Given the description of an element on the screen output the (x, y) to click on. 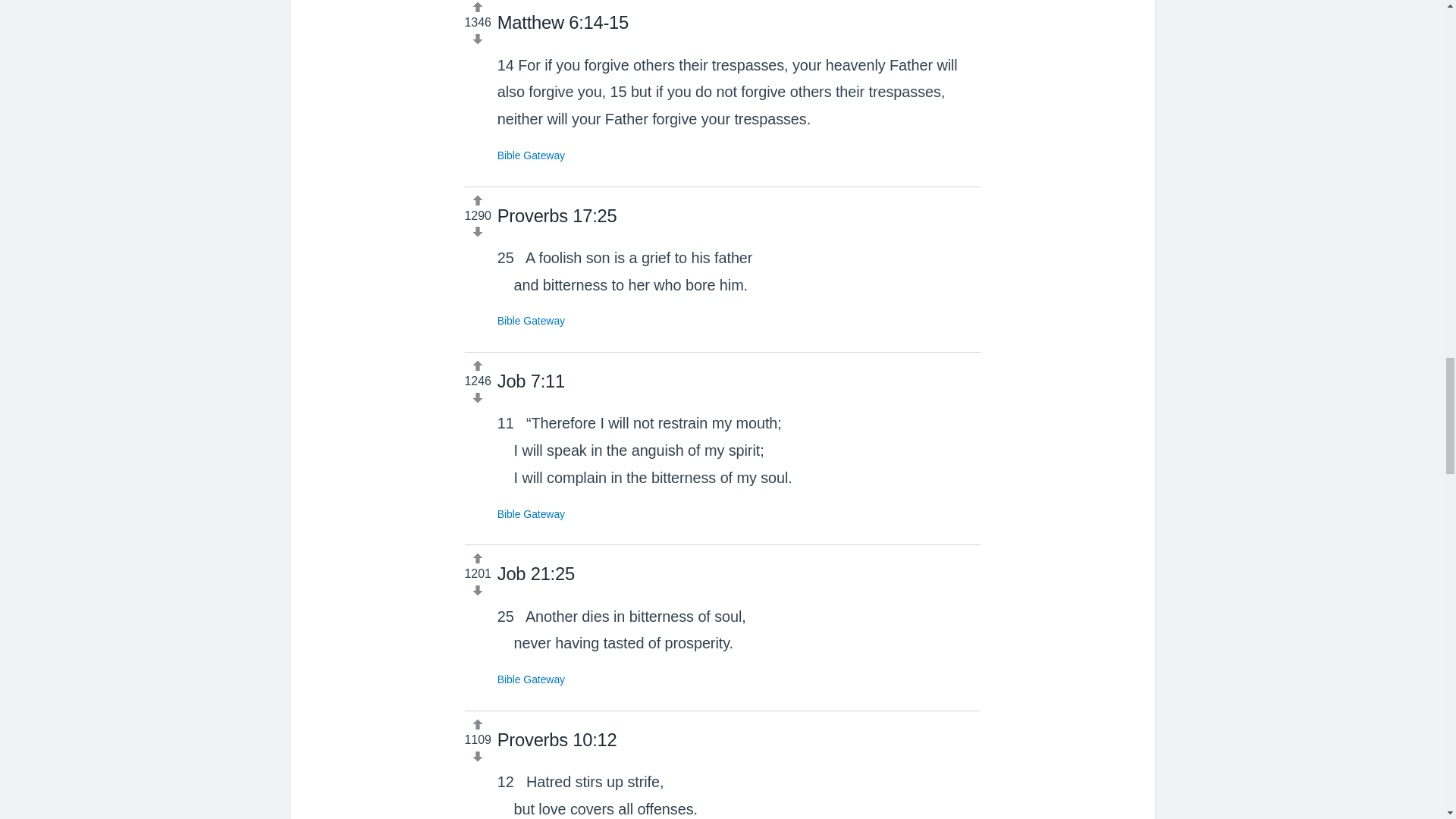
Bible Gateway (530, 513)
Bible Gateway (530, 320)
Bible Gateway (530, 679)
Bible Gateway (530, 155)
